Given the description of an element on the screen output the (x, y) to click on. 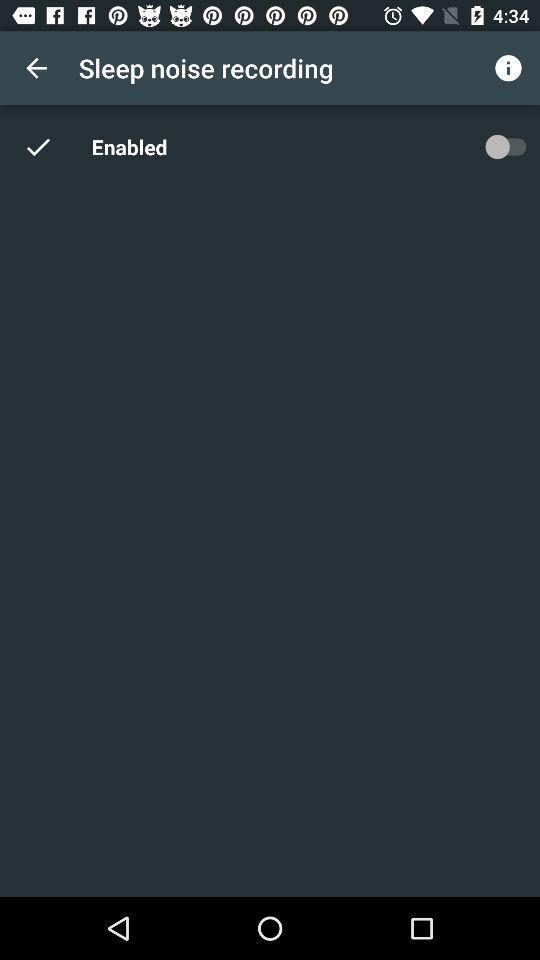
click item to the right of the enabled icon (505, 146)
